Given the description of an element on the screen output the (x, y) to click on. 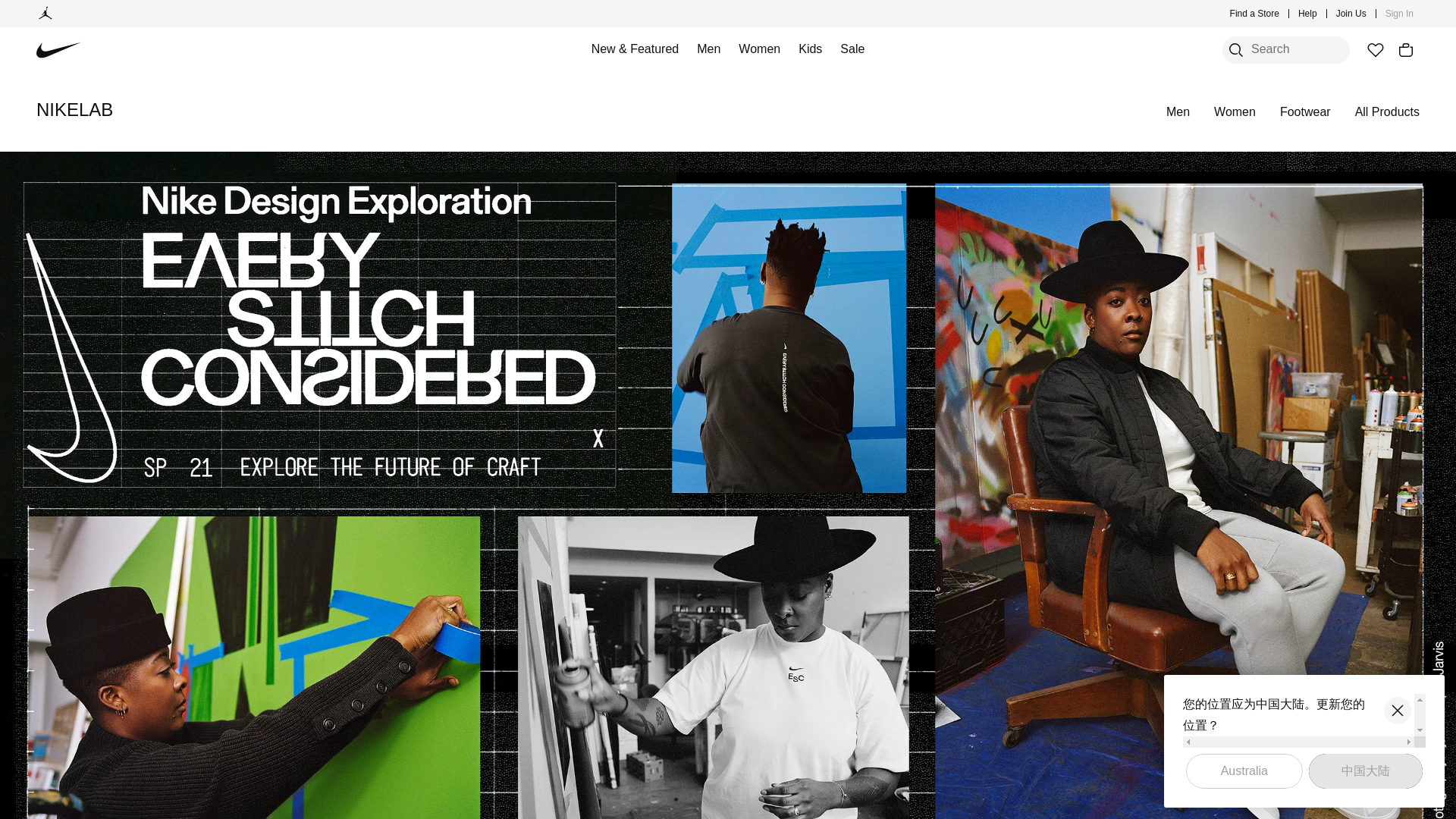
Favourites (1375, 49)
Sign In (1399, 13)
Bag Items: 0 (1405, 49)
Join Us (1351, 13)
Find a Store (1254, 13)
Help (1307, 13)
